Given the description of an element on the screen output the (x, y) to click on. 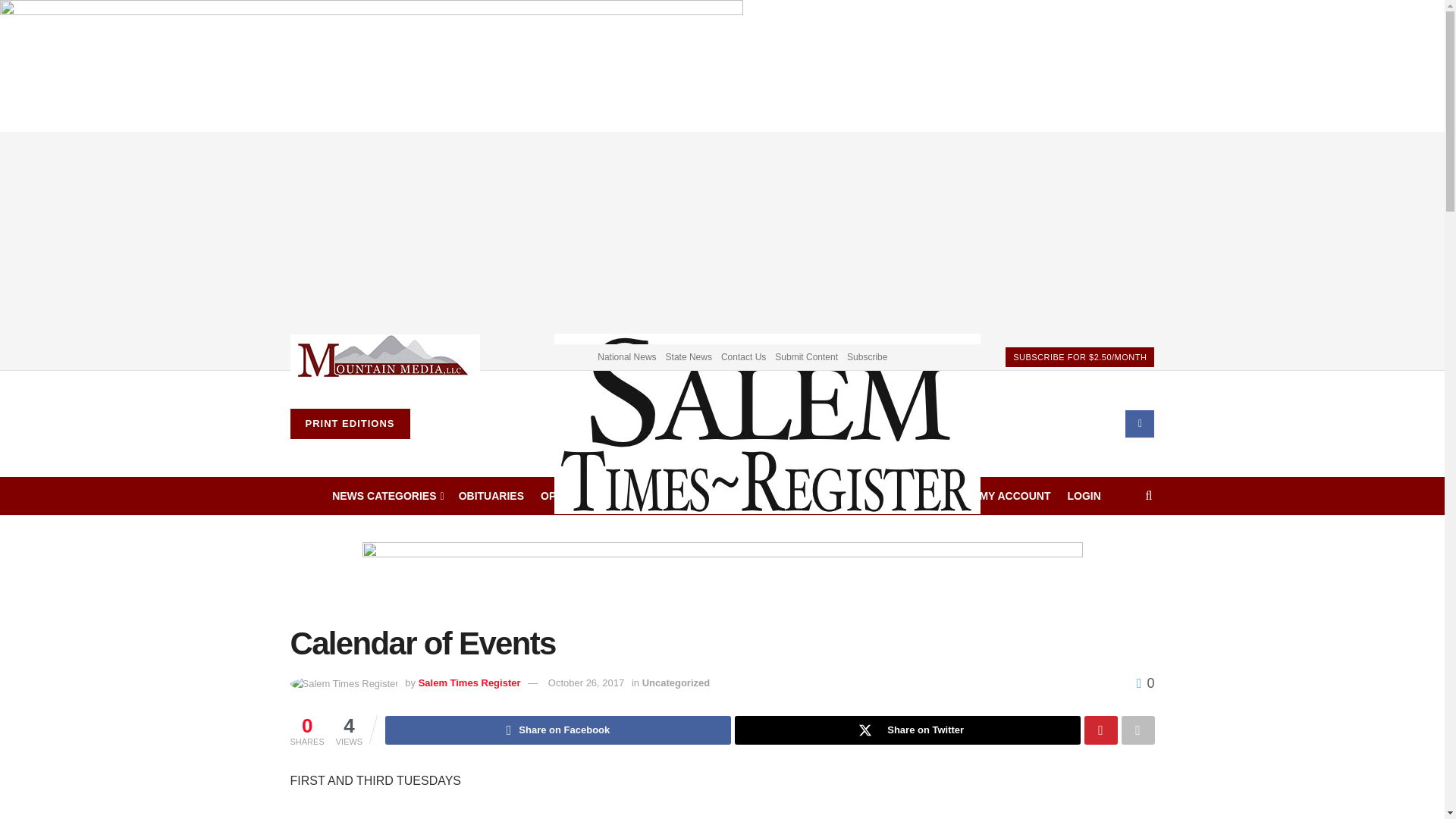
EEDITION (764, 495)
MY ACCOUNT (1013, 495)
LEGALS (623, 495)
OPINION (562, 495)
SPIRITUAL (692, 495)
CLASSIFIEDS (841, 495)
LOGIN (1083, 495)
CONTACT US (927, 495)
OBITUARIES (491, 495)
Submit Content (806, 356)
Subscribe (866, 356)
NEWS CATEGORIES (386, 495)
National News (626, 356)
State News (688, 356)
